Given the description of an element on the screen output the (x, y) to click on. 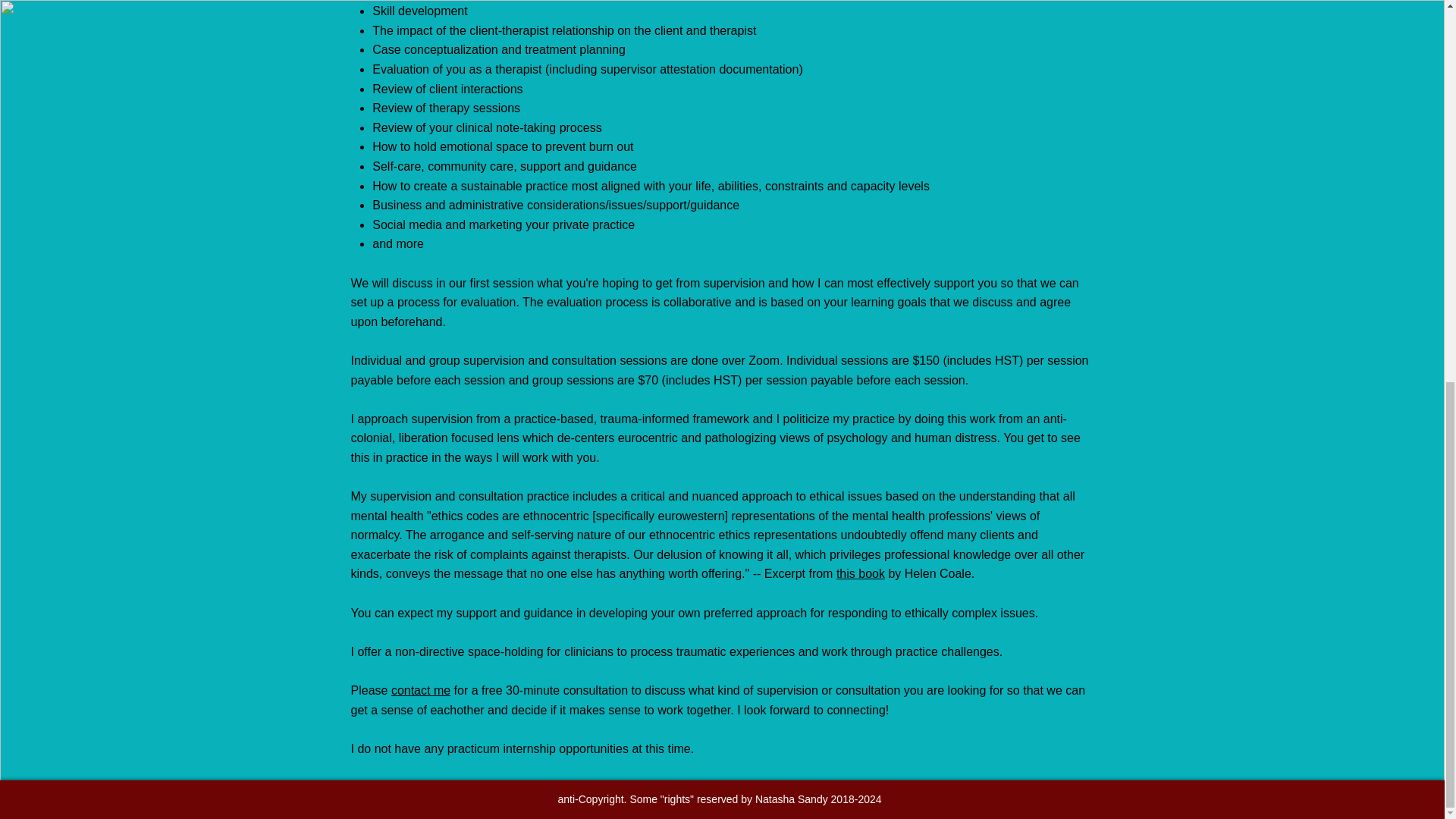
contact me (420, 689)
this book (860, 573)
